Given the description of an element on the screen output the (x, y) to click on. 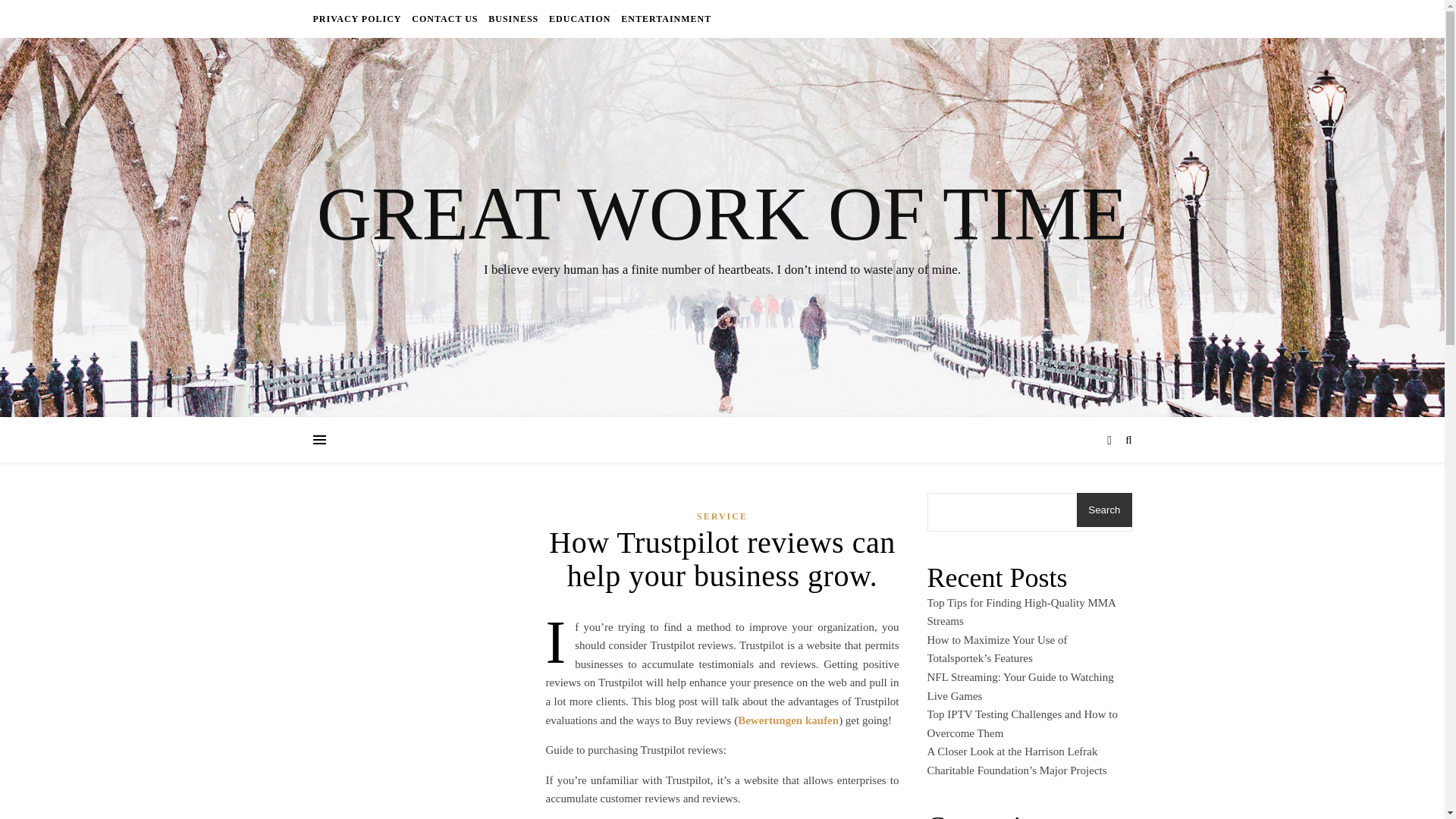
CONTACT US (444, 18)
Search (1104, 510)
EDUCATION (579, 18)
SERVICE (722, 516)
NFL Streaming: Your Guide to Watching Live Games (1019, 685)
Top Tips for Finding High-Quality MMA Streams (1020, 612)
BUSINESS (512, 18)
PRIVACY POLICY (358, 18)
ENTERTAINMENT (664, 18)
Top IPTV Testing Challenges and How to Overcome Them (1022, 723)
Bewertungen kaufen (788, 720)
